Given the description of an element on the screen output the (x, y) to click on. 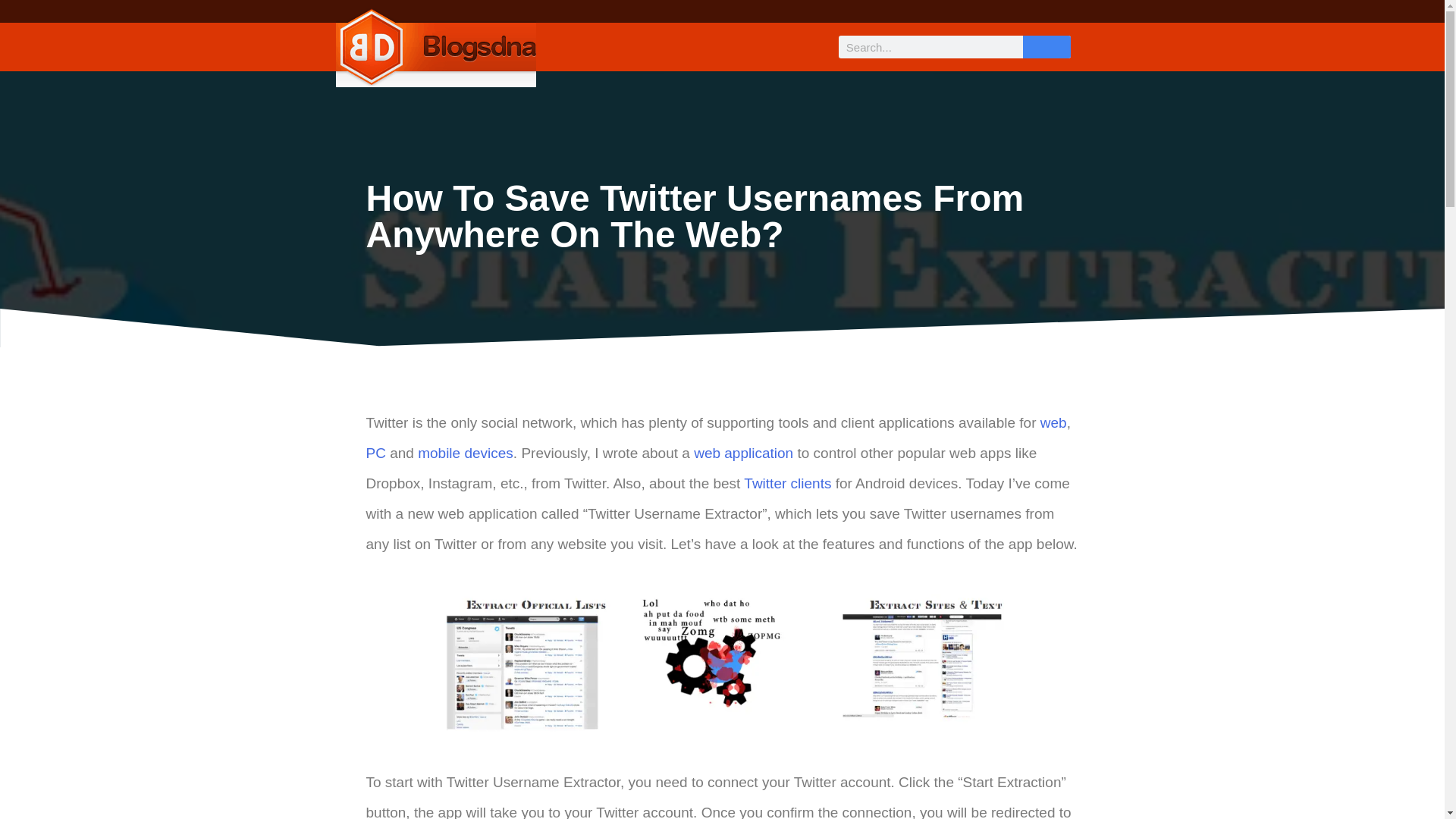
web application (743, 453)
PC (375, 453)
mobile devices (465, 453)
Search (1046, 47)
logo-croped (434, 47)
How To Set A Vacation Responder For Facebook and Twitter (1054, 422)
5 Best Free Android Apps for Twitter Freaks (787, 483)
web (1054, 422)
Twitter clients (787, 483)
